Given the description of an element on the screen output the (x, y) to click on. 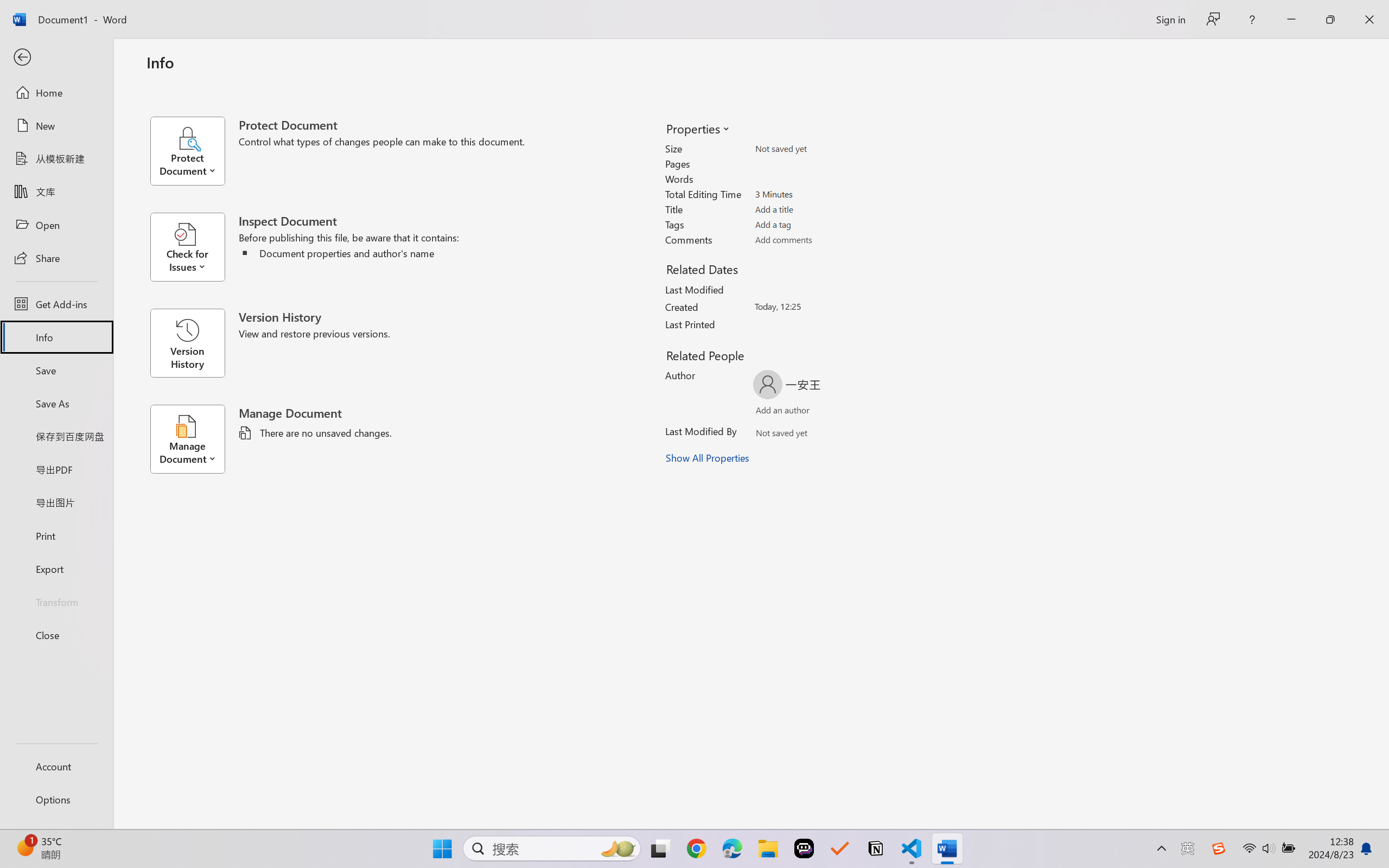
Transform (56, 601)
Verify Names (802, 434)
New (56, 125)
Export (56, 568)
Print (56, 535)
Check for Issues (194, 246)
Info (56, 337)
Not saved yet (772, 434)
Total Editing Time (818, 193)
Manage Document (194, 438)
